Given the description of an element on the screen output the (x, y) to click on. 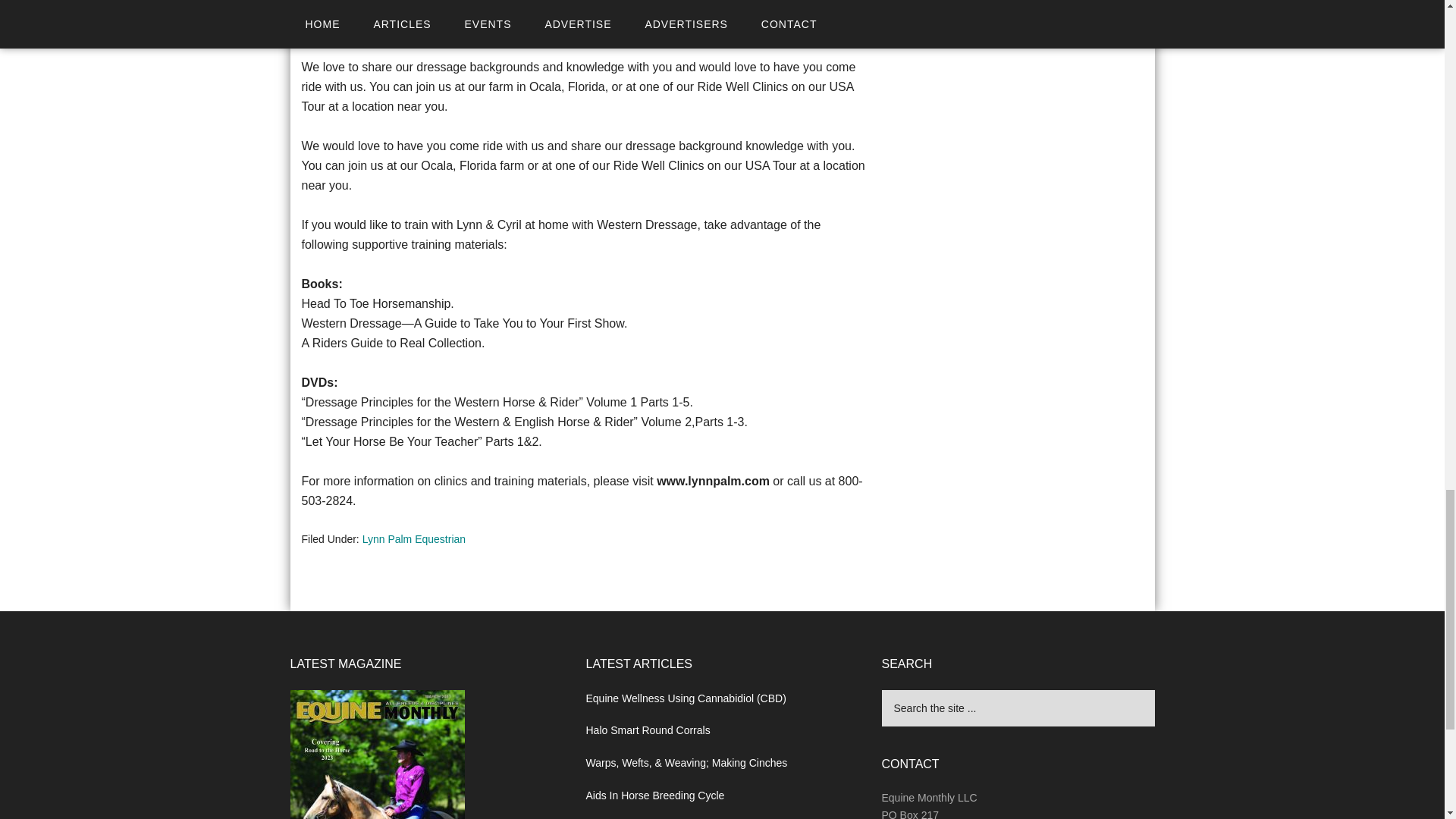
Halo Smart Round Corrals (647, 729)
Aids In Horse Breeding Cycle (654, 795)
Lynn Palm Equestrian (413, 539)
